Given the description of an element on the screen output the (x, y) to click on. 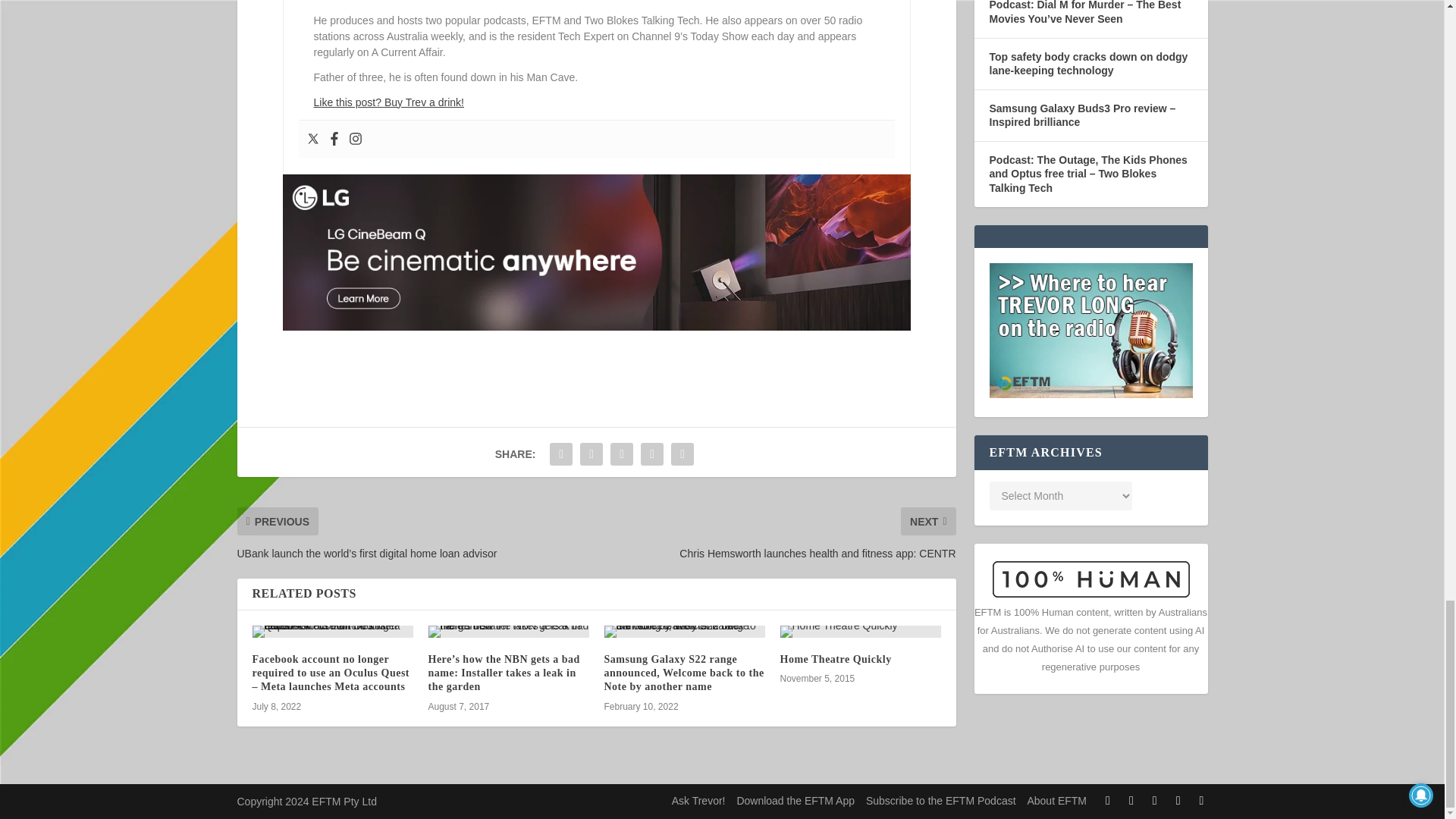
Facebook (333, 139)
Instagram (355, 139)
Twitter (312, 139)
Home Theatre Quickly (859, 631)
